Given the description of an element on the screen output the (x, y) to click on. 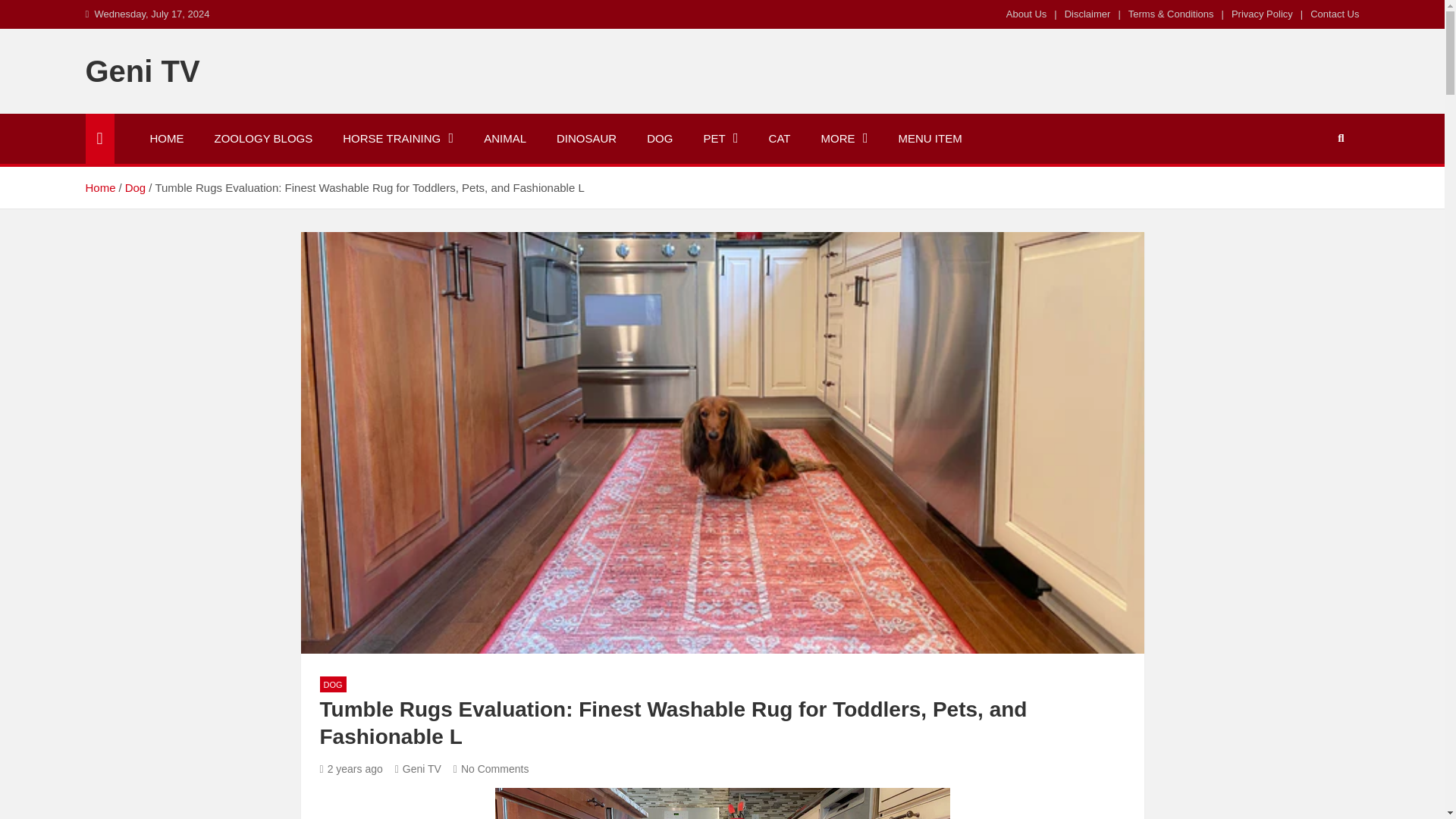
DINOSAUR (586, 138)
Dog (136, 187)
CAT (780, 138)
HOME (167, 138)
ANIMAL (504, 138)
DOG (659, 138)
2 years ago (351, 768)
HORSE TRAINING (397, 138)
MENU ITEM (929, 138)
Geni TV (417, 768)
ZOOLOGY BLOGS (262, 138)
About Us (1026, 13)
Disclaimer (1087, 13)
PET (719, 138)
